Given the description of an element on the screen output the (x, y) to click on. 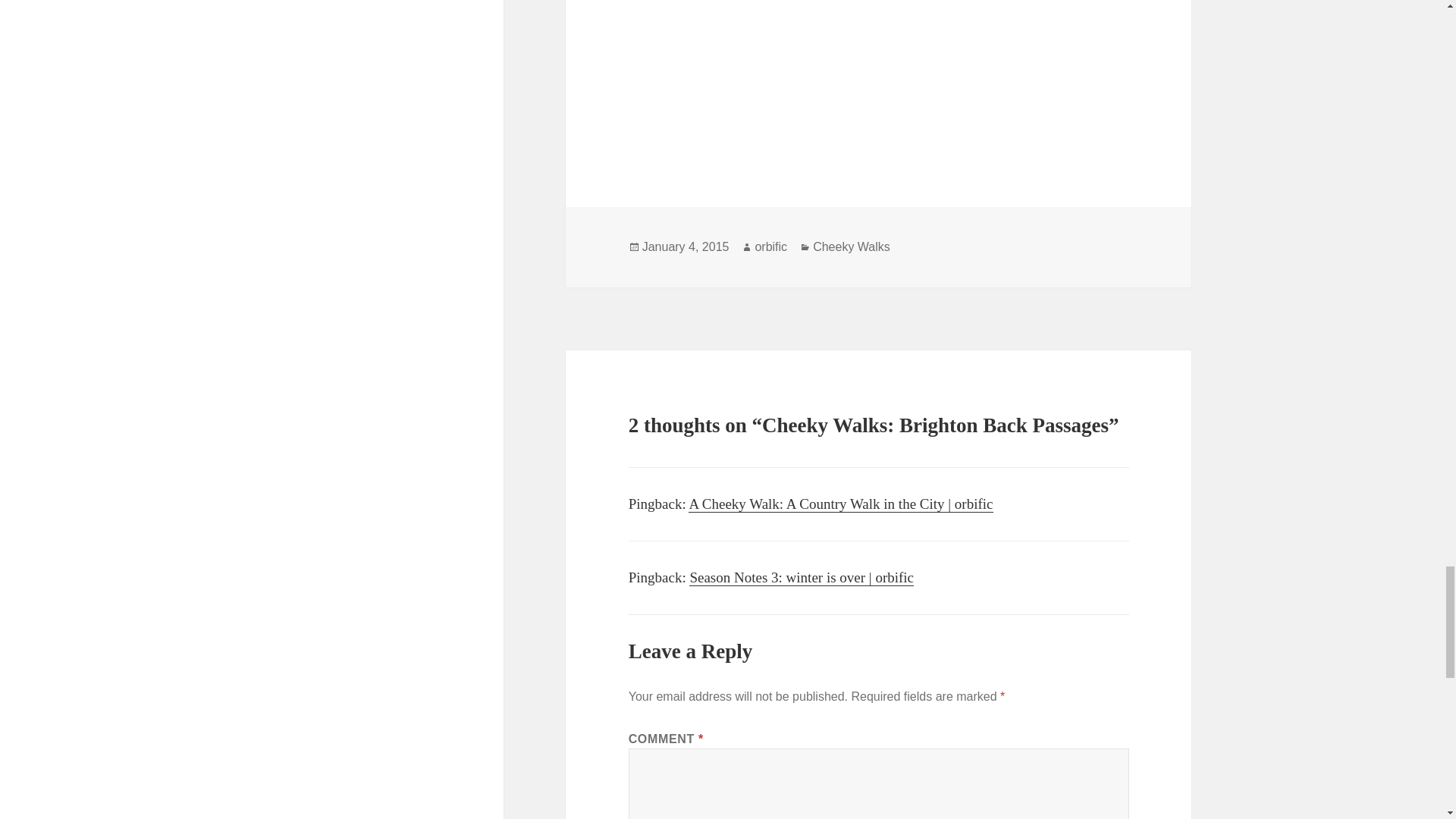
Cheeky Walks (850, 246)
January 4, 2015 (685, 246)
orbific (770, 246)
